Given the description of an element on the screen output the (x, y) to click on. 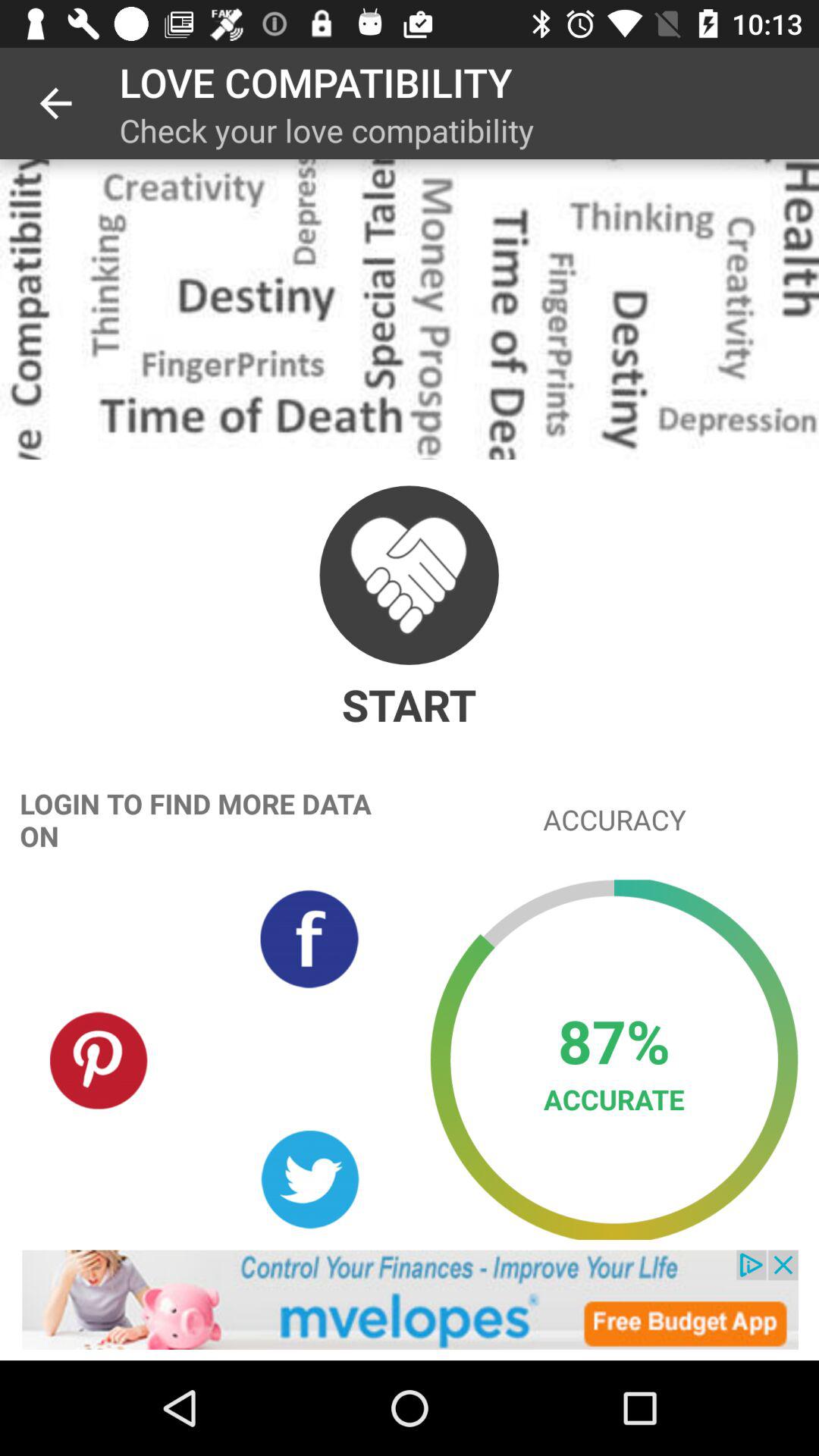
facebook button (309, 939)
